Given the description of an element on the screen output the (x, y) to click on. 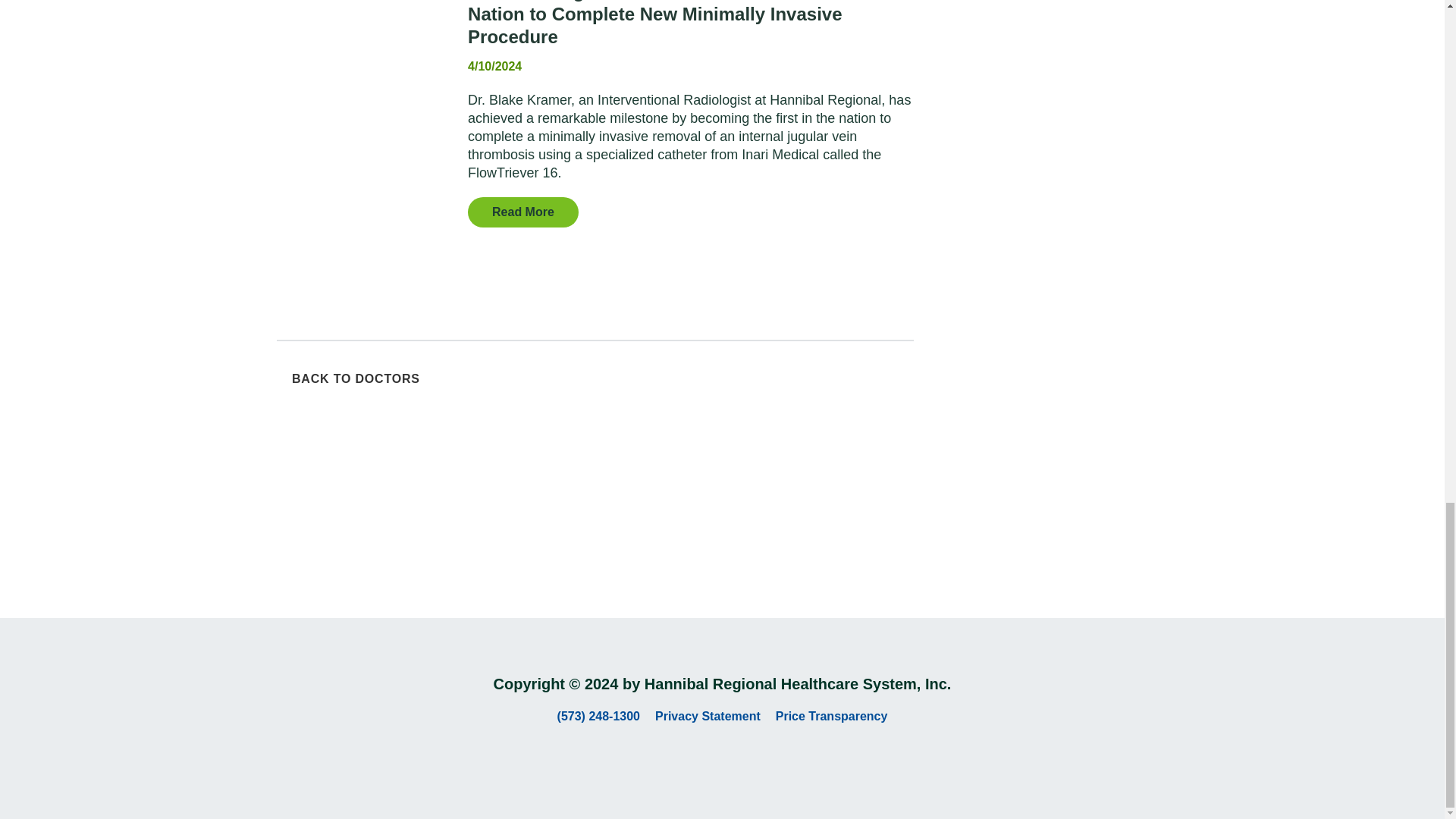
Out twitter page (721, 761)
Out facebook page (688, 761)
Out youtube page (754, 761)
